Given the description of an element on the screen output the (x, y) to click on. 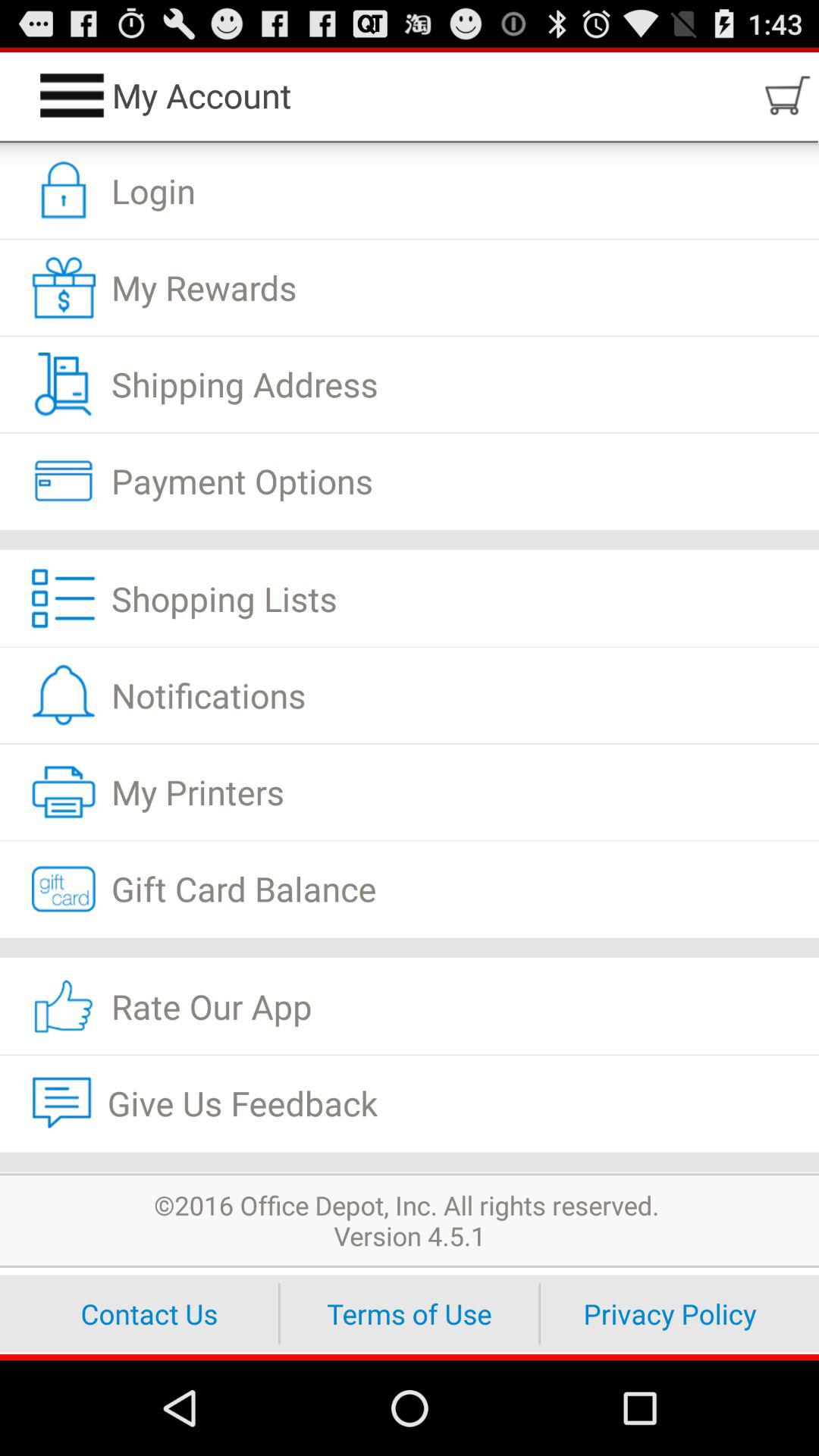
open icon below 2016 office depot icon (669, 1313)
